Given the description of an element on the screen output the (x, y) to click on. 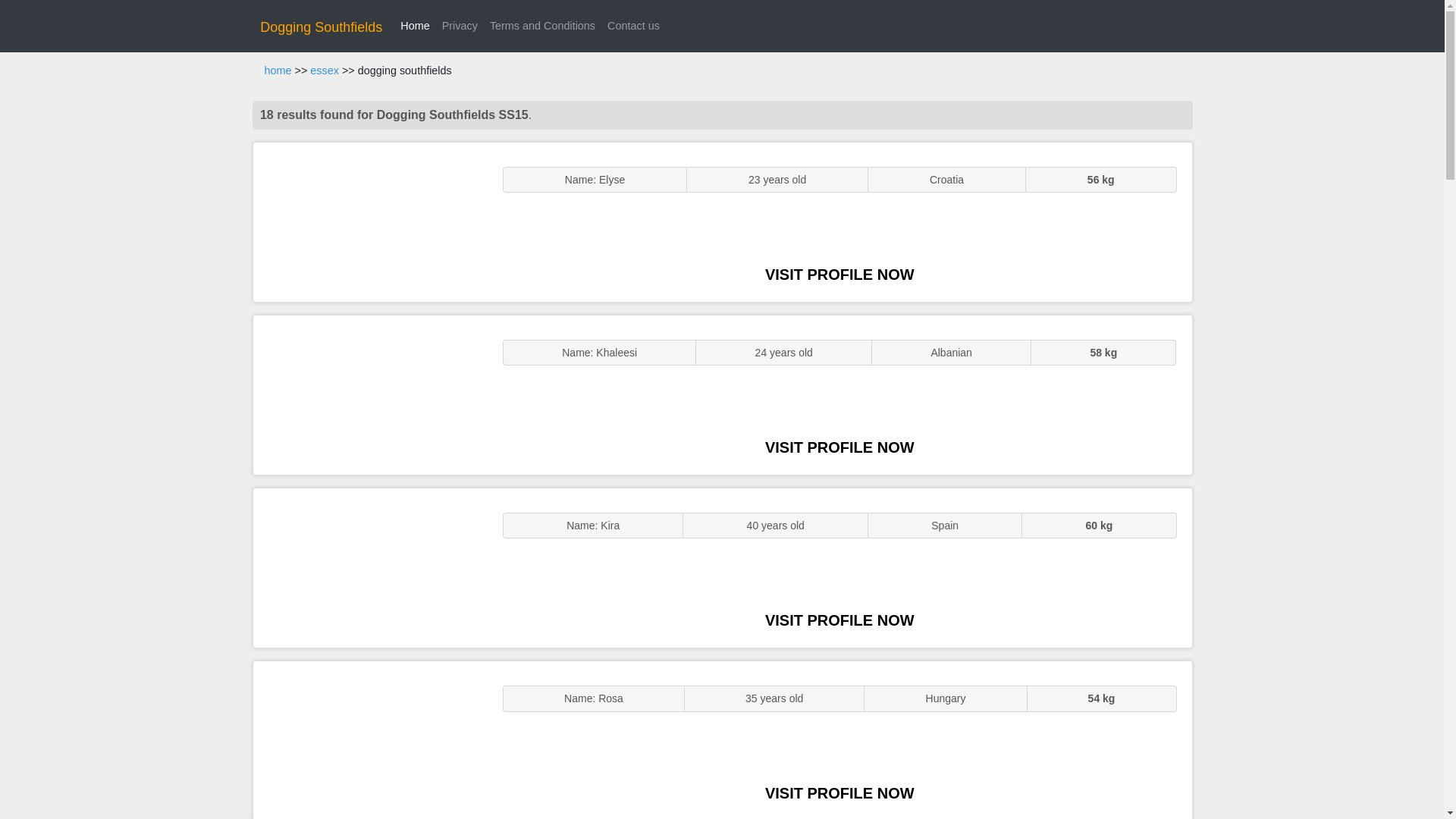
Privacy (459, 25)
GFE (370, 395)
VISIT PROFILE NOW (839, 446)
 ENGLISH STUNNER (370, 222)
VISIT PROFILE NOW (839, 274)
Contact us (633, 25)
Sluts (370, 739)
Sexy (370, 567)
Dogging Southfields (320, 27)
essex (324, 70)
home (277, 70)
Terms and Conditions (542, 25)
VISIT PROFILE NOW (839, 619)
VISIT PROFILE NOW (839, 792)
